Given the description of an element on the screen output the (x, y) to click on. 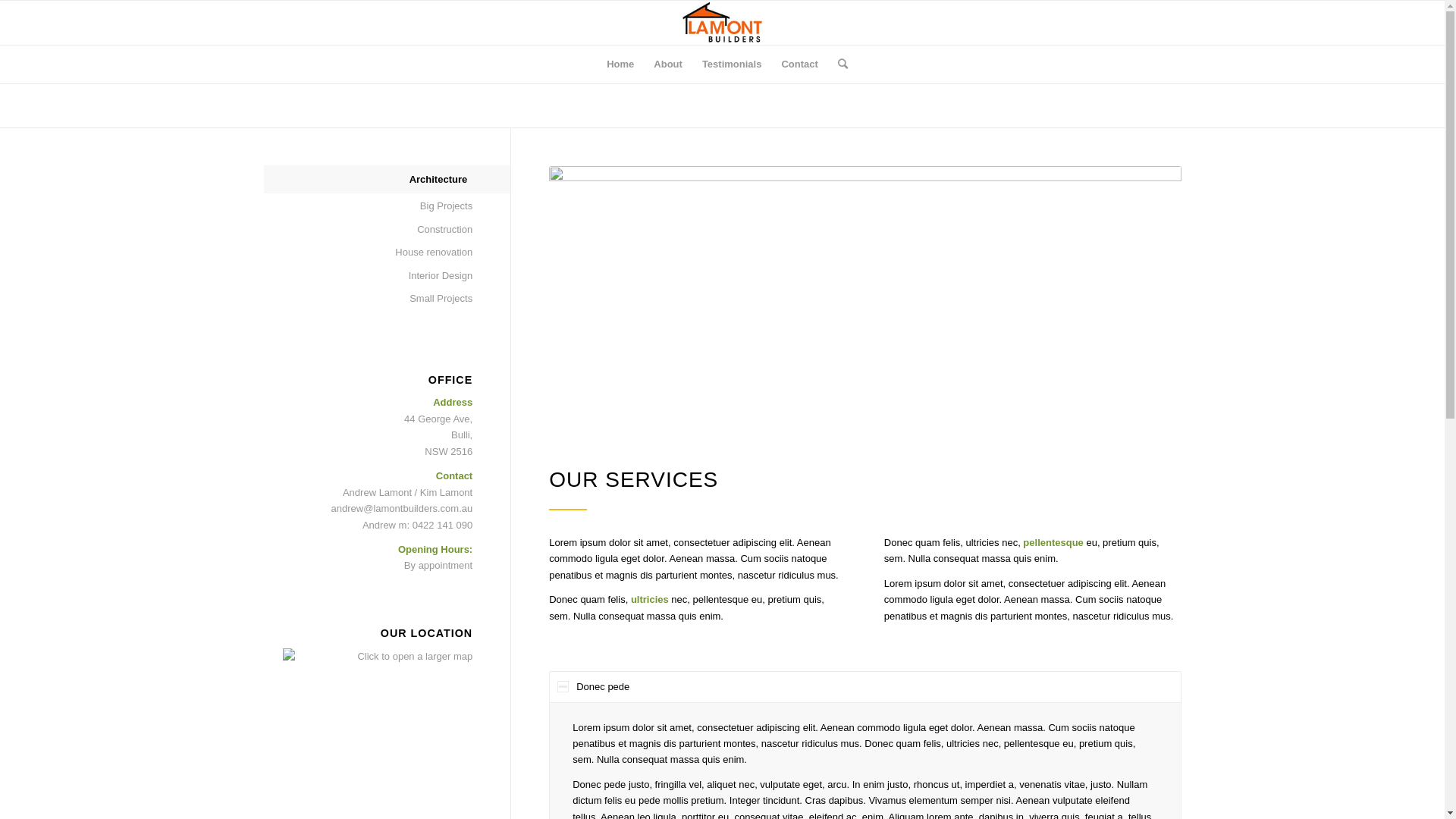
team-banner2 Element type: hover (864, 298)
Contact Element type: text (799, 64)
Interior Design Element type: text (368, 275)
About Element type: text (667, 64)
Construction Element type: text (368, 229)
House renovation Element type: text (368, 252)
Small Projects Element type: text (368, 298)
Testimonials Element type: text (731, 64)
Click to open a larger map Element type: hover (377, 656)
Big Projects Element type: text (368, 205)
Home Element type: text (619, 64)
Architecture Element type: text (368, 179)
